Given the description of an element on the screen output the (x, y) to click on. 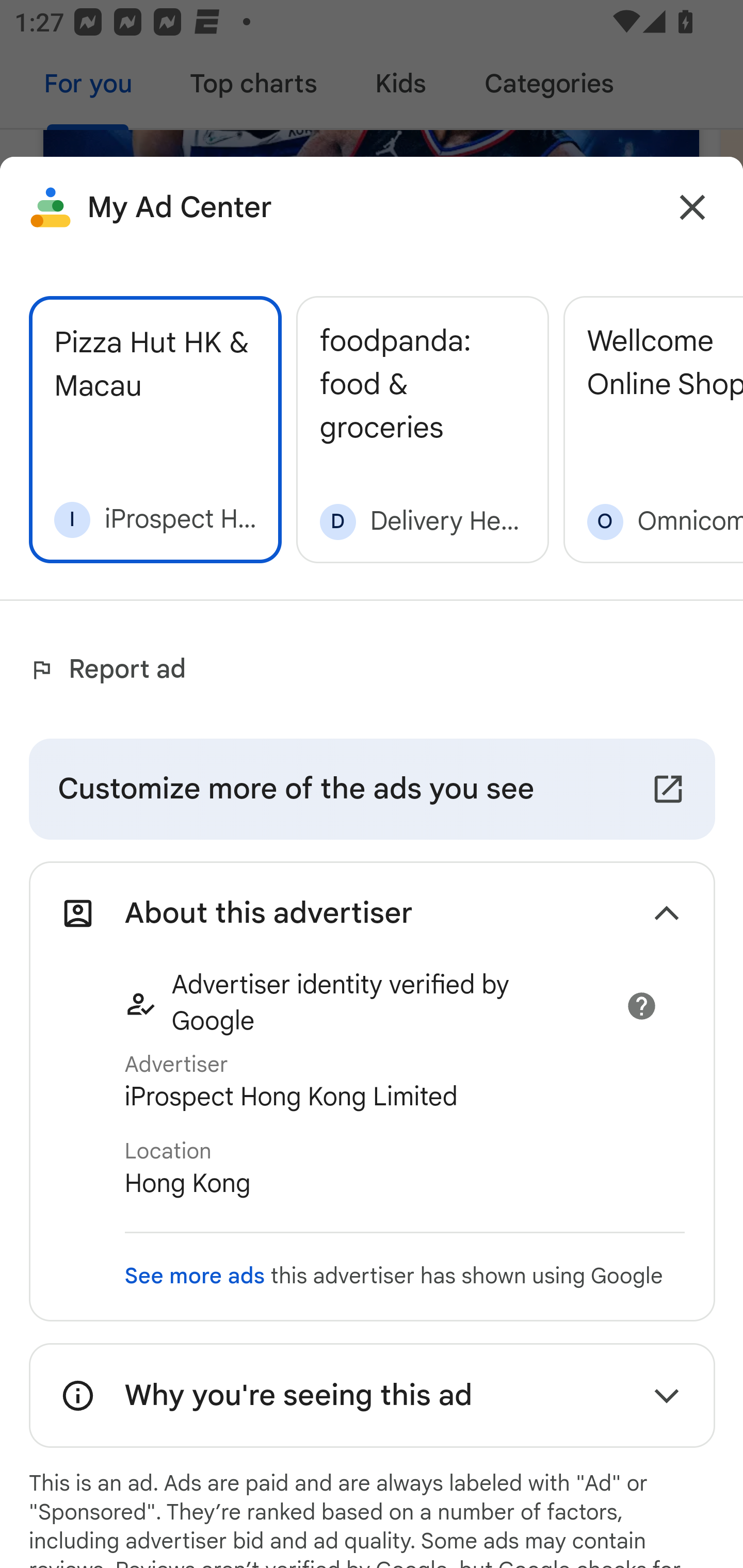
Close (692, 207)
Report ad (opens in new tab) Report ad (111, 669)
About this advertiser (371, 913)
See more ads (opens in new tab) See more ads (193, 1276)
Why you're seeing this ad (371, 1395)
